Given the description of an element on the screen output the (x, y) to click on. 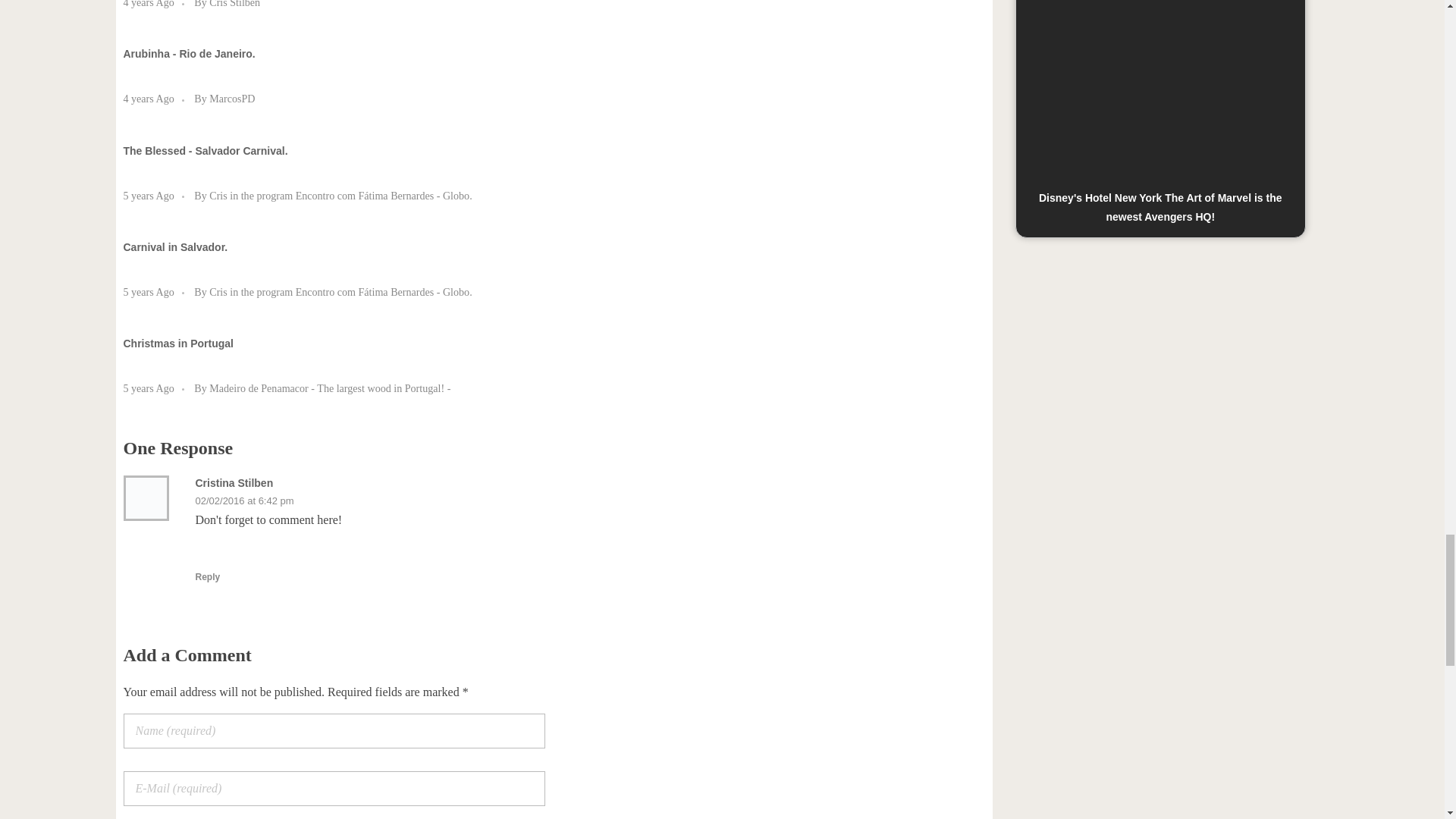
Cristina Stilben (234, 482)
The Blessed - Salvador Carnival. (204, 150)
Reply (208, 576)
Carnival in Salvador. (174, 246)
Arubinha - Rio de Janeiro. (188, 53)
Christmas in Portugal (177, 343)
